Given the description of an element on the screen output the (x, y) to click on. 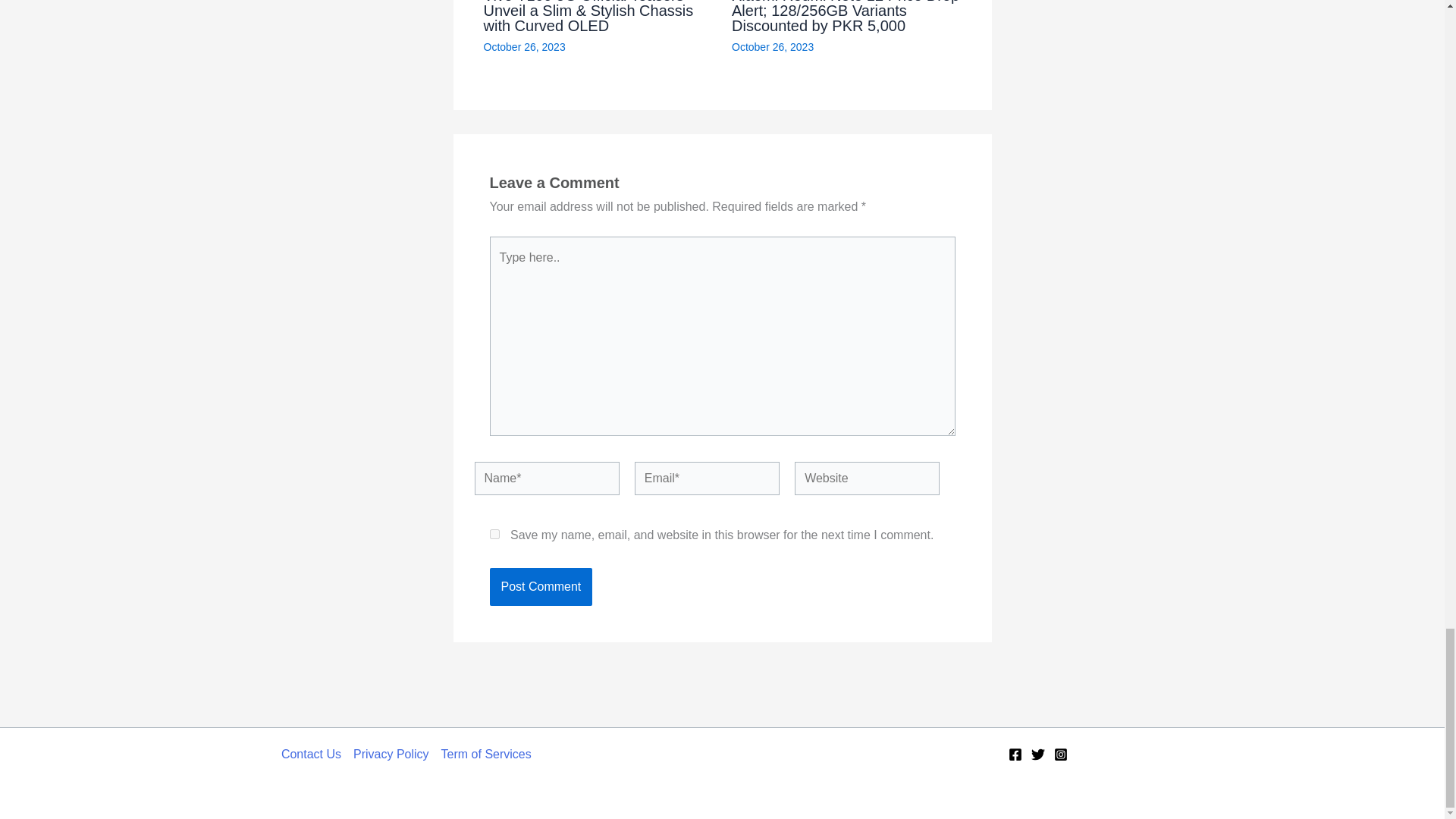
Post Comment (540, 587)
yes (494, 533)
Post Comment (540, 587)
